Given the description of an element on the screen output the (x, y) to click on. 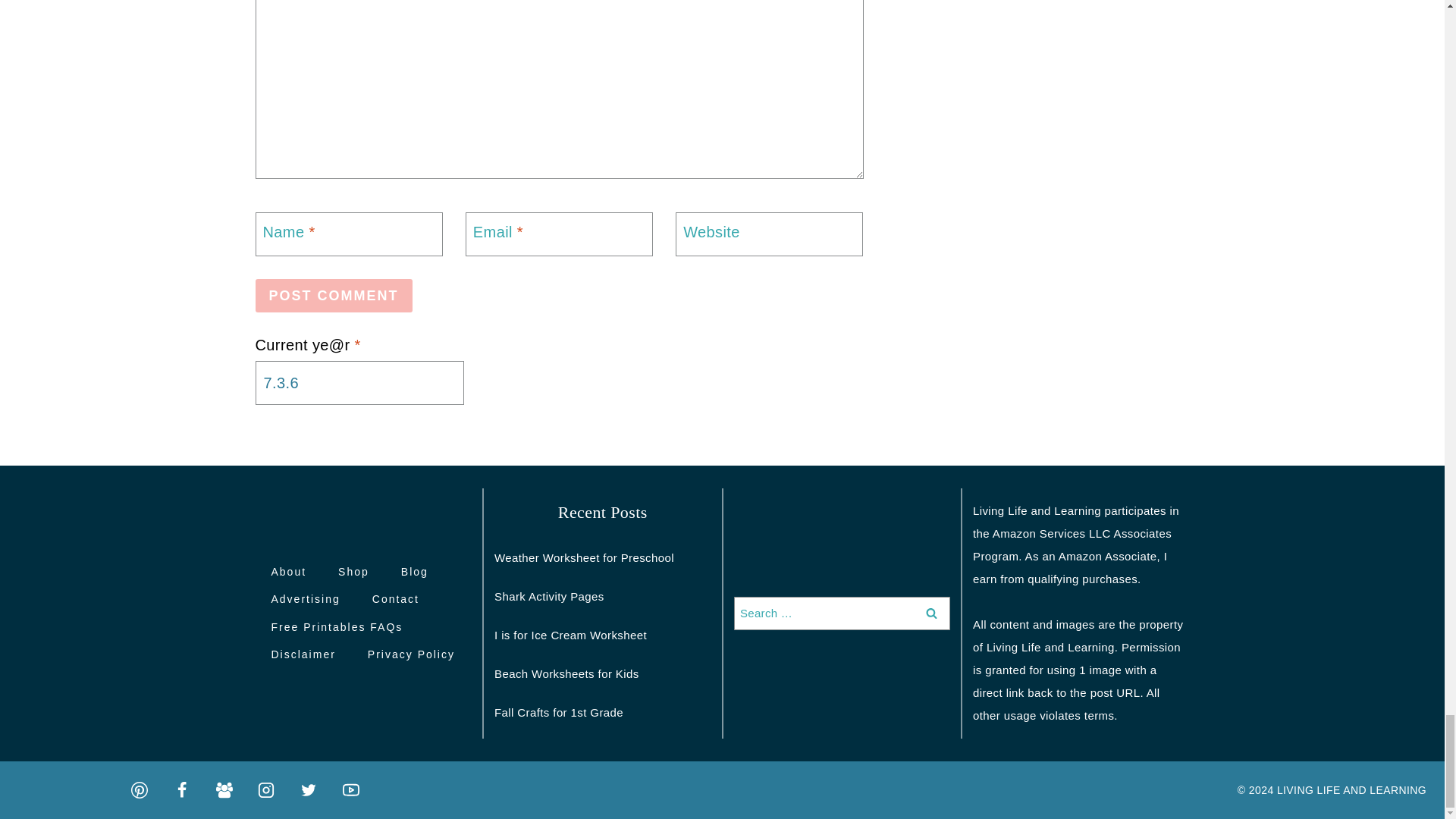
Post Comment (333, 295)
Search (931, 613)
7.3.6 (358, 382)
Search (931, 613)
